Given the description of an element on the screen output the (x, y) to click on. 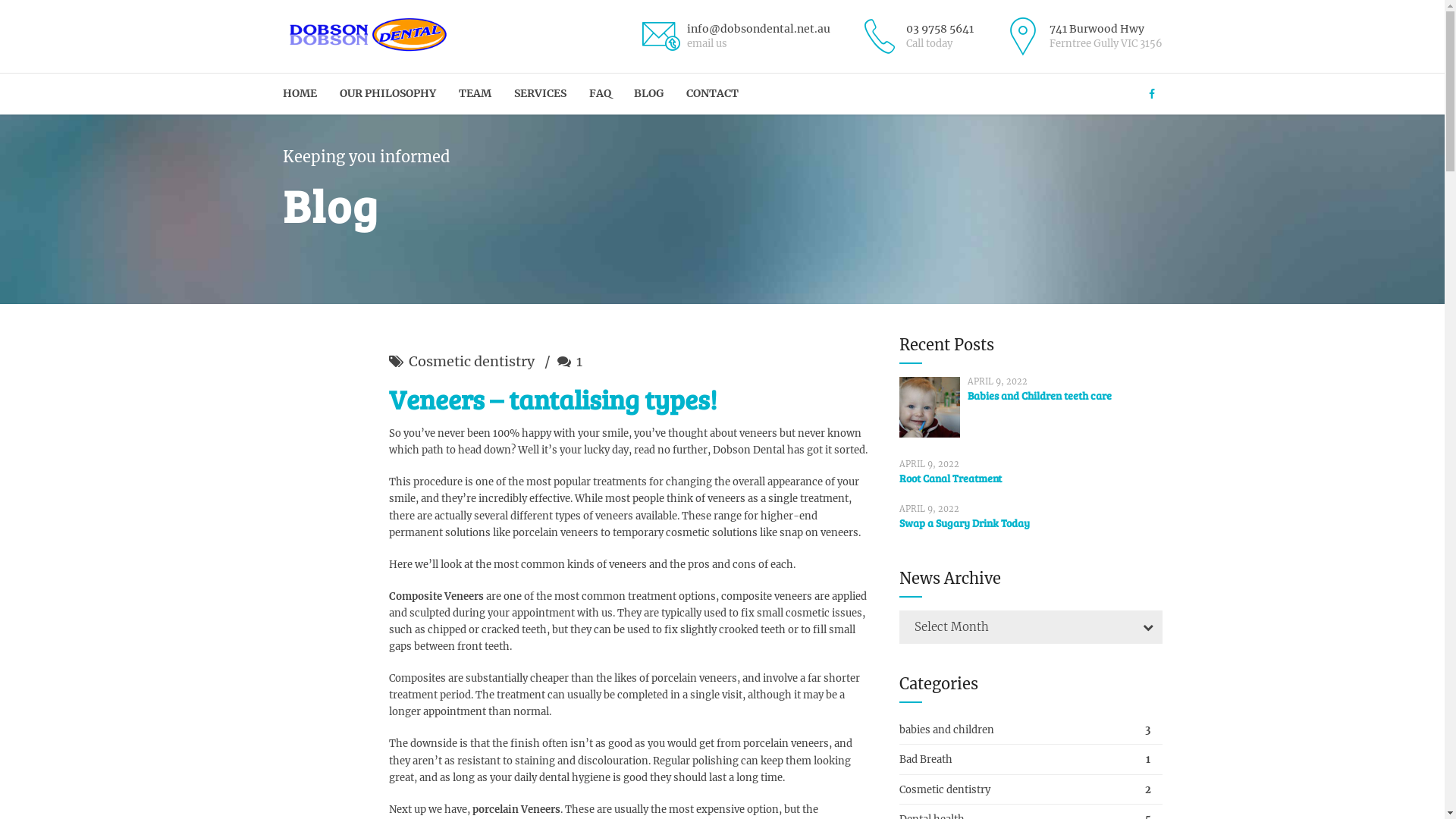
Bad Breath Element type: text (1030, 760)
Babies and Children teeth care Element type: text (1039, 395)
1 Element type: text (568, 362)
Cosmetic dentistry Element type: text (470, 361)
Root Canal Treatment Element type: text (950, 477)
babies and children Element type: text (1030, 730)
SERVICES Element type: text (540, 93)
FAQ Element type: text (599, 93)
BLOG Element type: text (648, 93)
03 9758 5641
Call today Element type: text (914, 36)
info@dobsondental.net.au
email us Element type: text (734, 36)
Cosmetic dentistry Element type: text (1030, 790)
HOME Element type: text (299, 93)
OUR PHILOSOPHY Element type: text (387, 93)
Swap a Sugary Drink Today Element type: text (964, 522)
CONTACT Element type: text (711, 93)
TEAM Element type: text (474, 93)
